Given the description of an element on the screen output the (x, y) to click on. 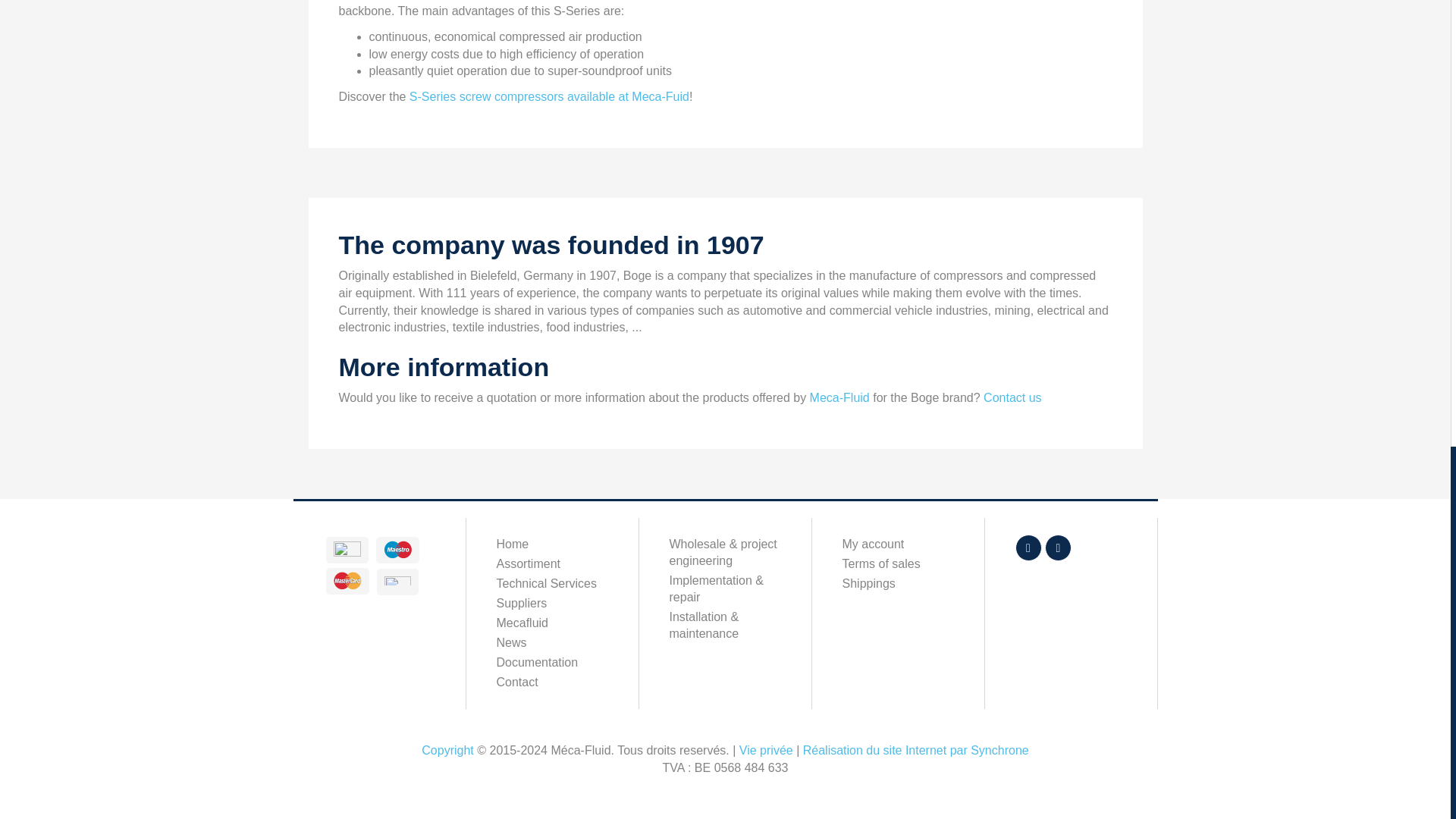
Home (551, 544)
Meca-Fluid (839, 397)
Assortiment (551, 564)
S-Series screw compressors available at Meca-Fuid (547, 96)
Contact us (1012, 397)
